Given the description of an element on the screen output the (x, y) to click on. 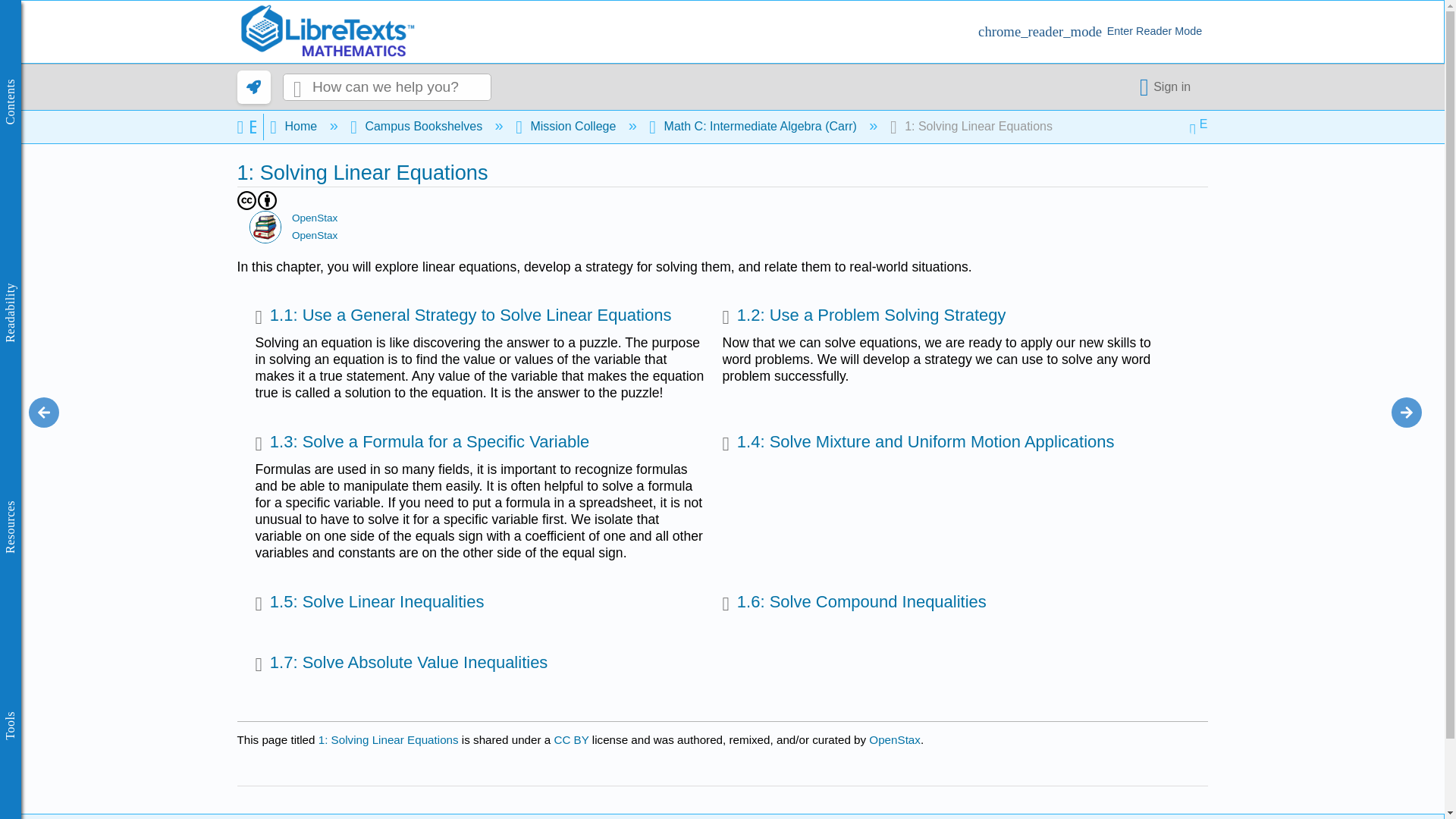
Single Sign-On (1167, 86)
OpenStax (265, 226)
BY (266, 199)
1.2: Use a Problem Solving Strategy (864, 316)
1.3: Solve a Formula for a Specific Variable (421, 443)
CC (246, 199)
1.1: Use a General Strategy to Solve Linear Equations (462, 316)
